Given the description of an element on the screen output the (x, y) to click on. 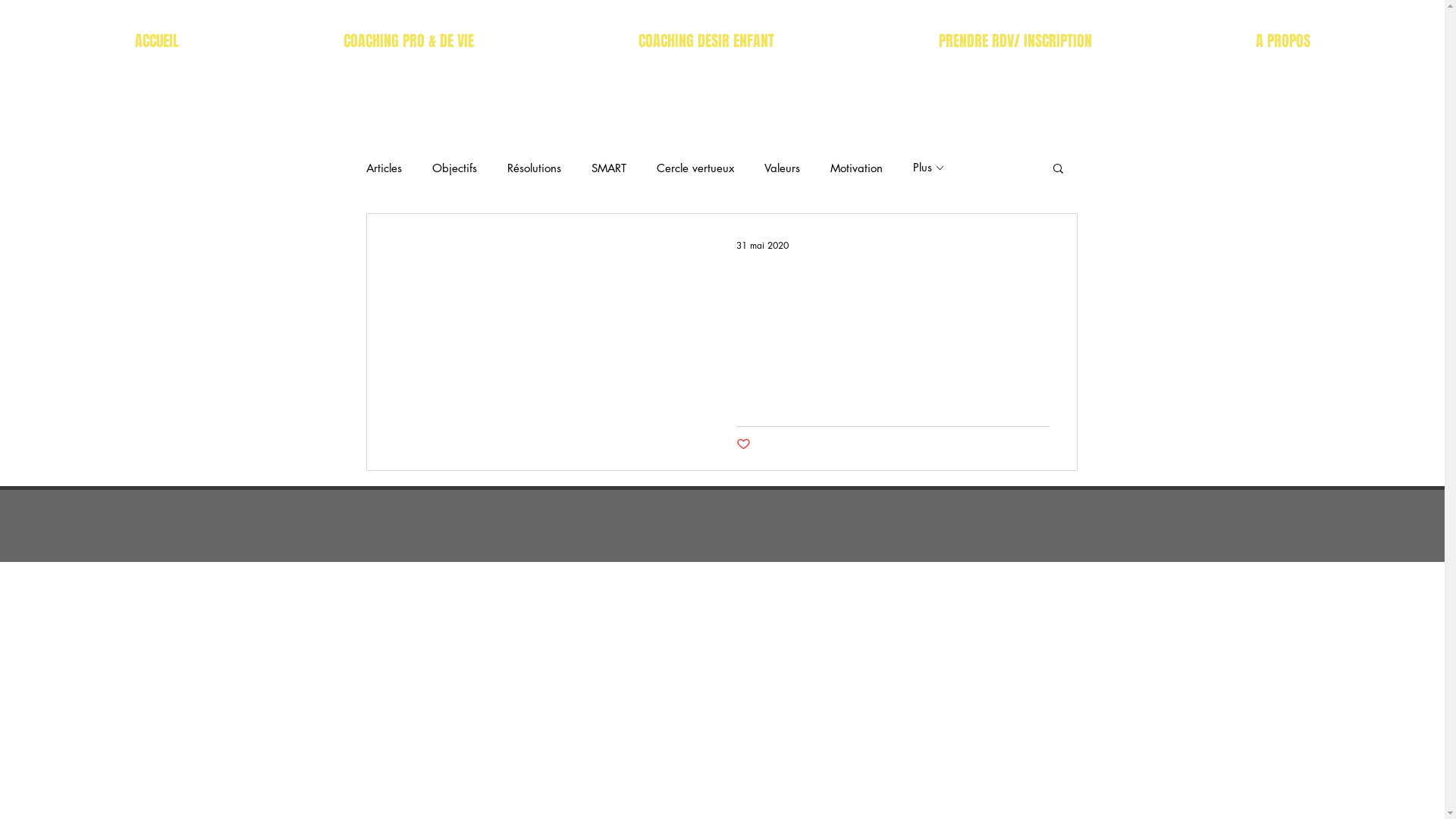
Valeurs Element type: text (782, 167)
SMART Element type: text (608, 167)
COACHING DESIR ENFANT Element type: text (701, 41)
A PROPOS Element type: text (1293, 41)
Motivation Element type: text (855, 167)
Articles Element type: text (383, 167)
COACHING PRO & DE VIE Element type: text (390, 41)
Cercle vertueux Element type: text (695, 167)
ACCUEIL Element type: text (144, 41)
PRENDRE RDV/ INSCRIPTION Element type: text (1027, 41)
Objectifs Element type: text (454, 167)
